Given the description of an element on the screen output the (x, y) to click on. 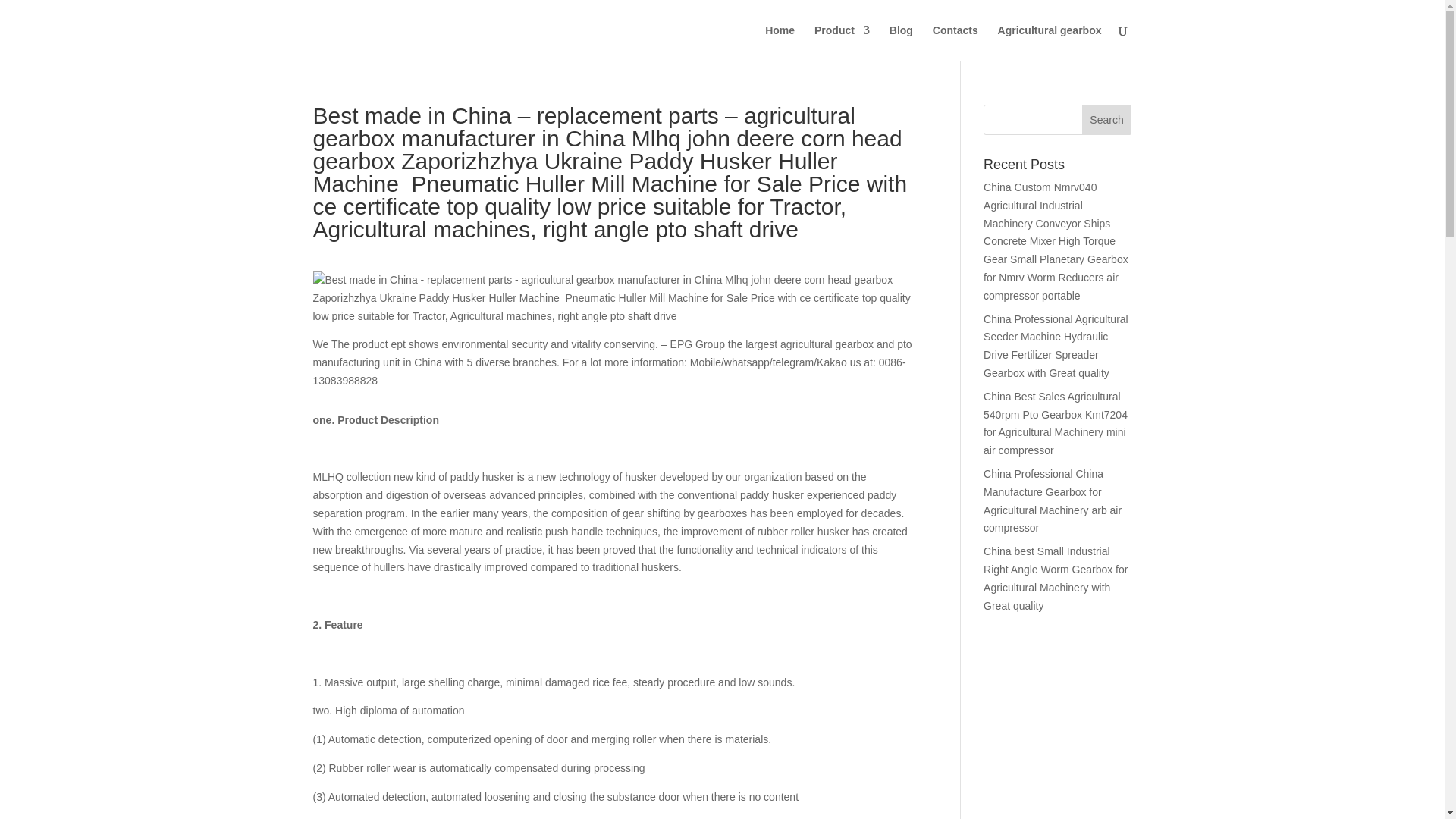
Search (1106, 119)
Agricultural gearbox (1049, 42)
Search (1106, 119)
Contacts (955, 42)
Product (841, 42)
